Given the description of an element on the screen output the (x, y) to click on. 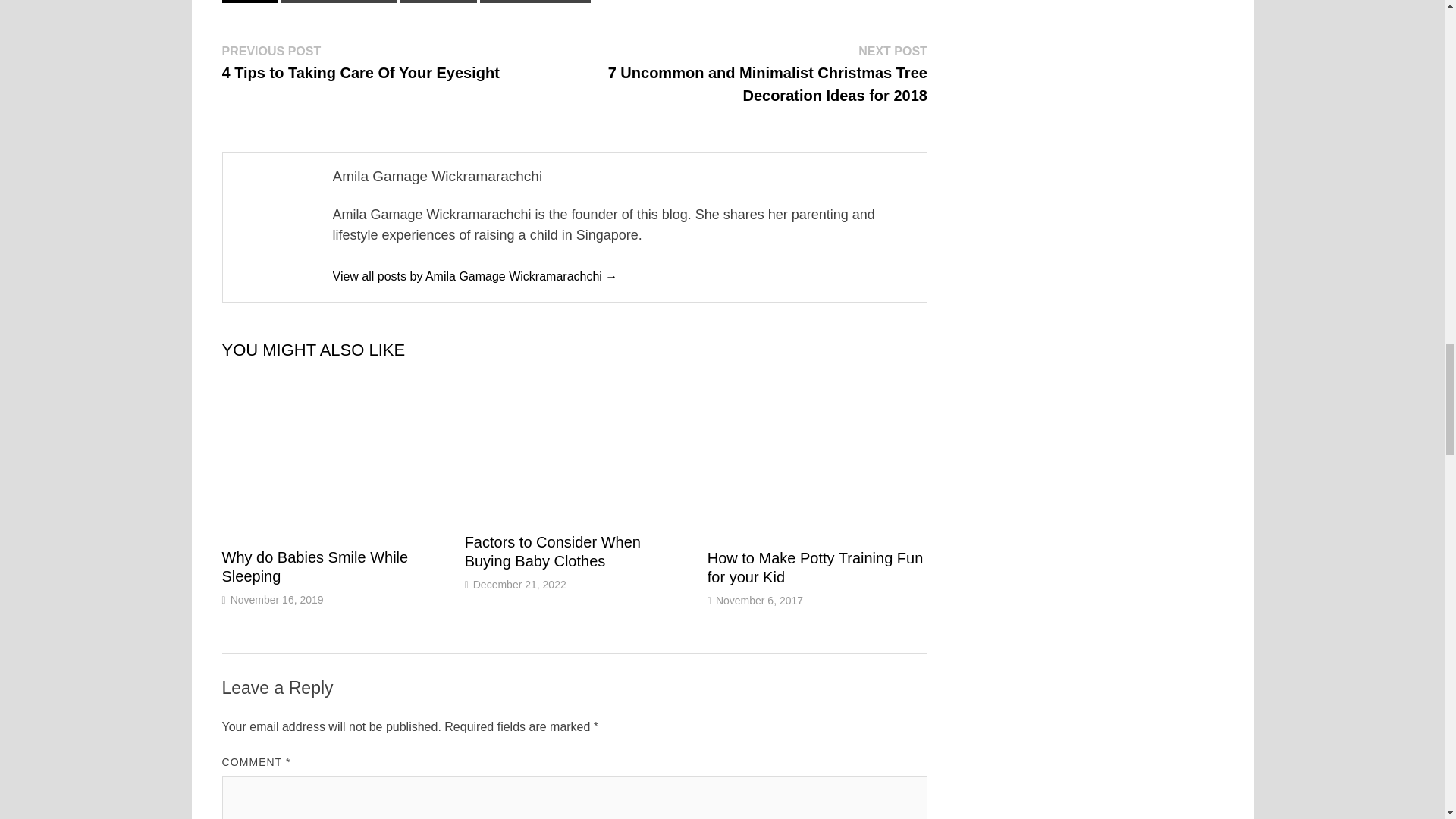
Factors to Consider When Buying Baby Clothes (552, 551)
Why do Babies Smile While Sleeping (314, 566)
Amila Gamage Wickramarachchi (474, 276)
BABY STUFF (437, 1)
November 16, 2019 (276, 599)
BABY ONLINE SHOP (339, 1)
How to Make Potty Training Fun for your Kid (815, 567)
Why do Babies Smile While Sleeping (314, 566)
ONLINE SHOPPING (535, 1)
Factors to Consider When Buying Baby Clothes (552, 551)
